Given the description of an element on the screen output the (x, y) to click on. 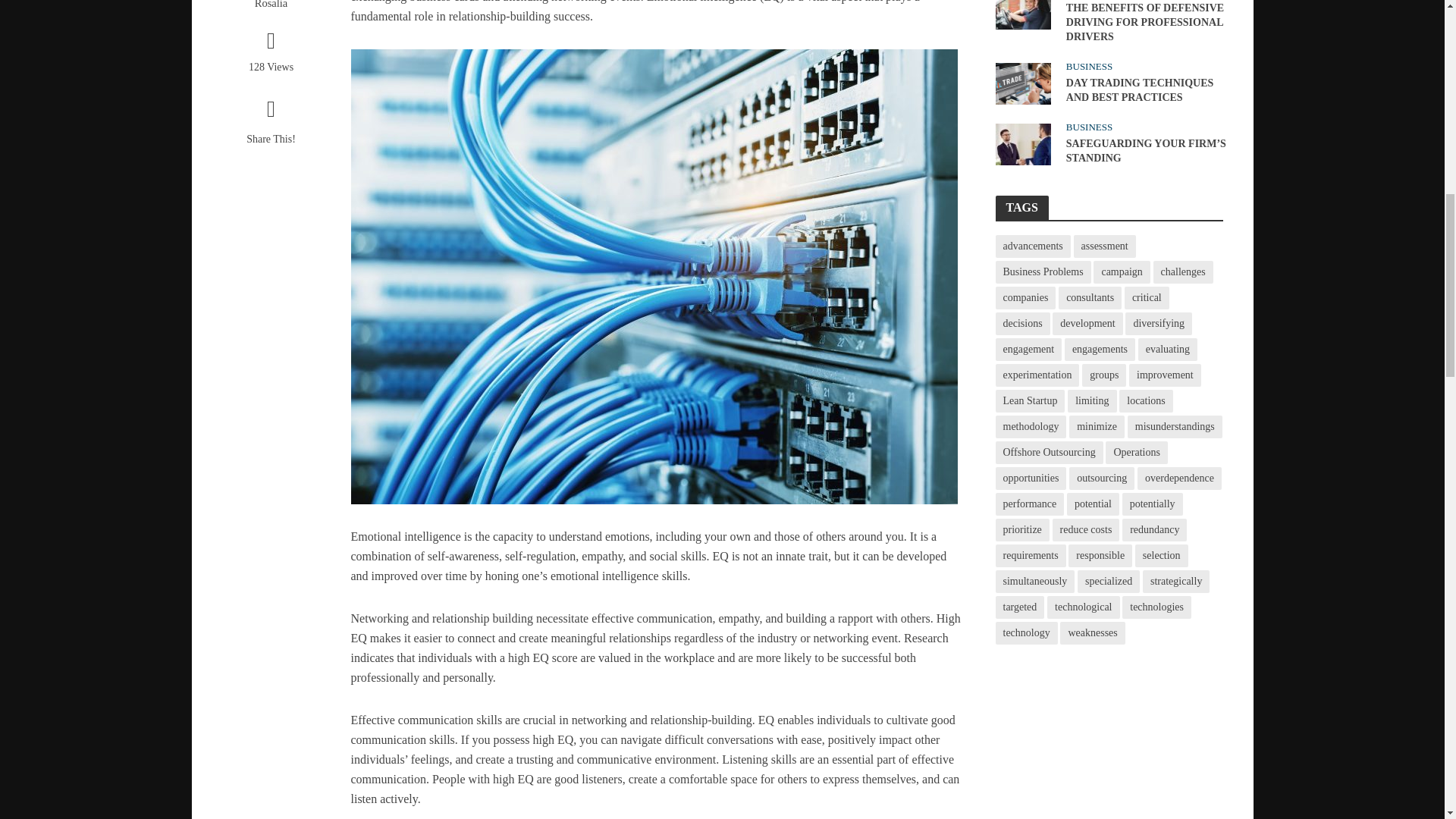
Day Trading Techniques and Best Practices (1021, 82)
The Benefits of Defensive Driving for Professional Drivers (1021, 7)
Rosalia (270, 5)
